Given the description of an element on the screen output the (x, y) to click on. 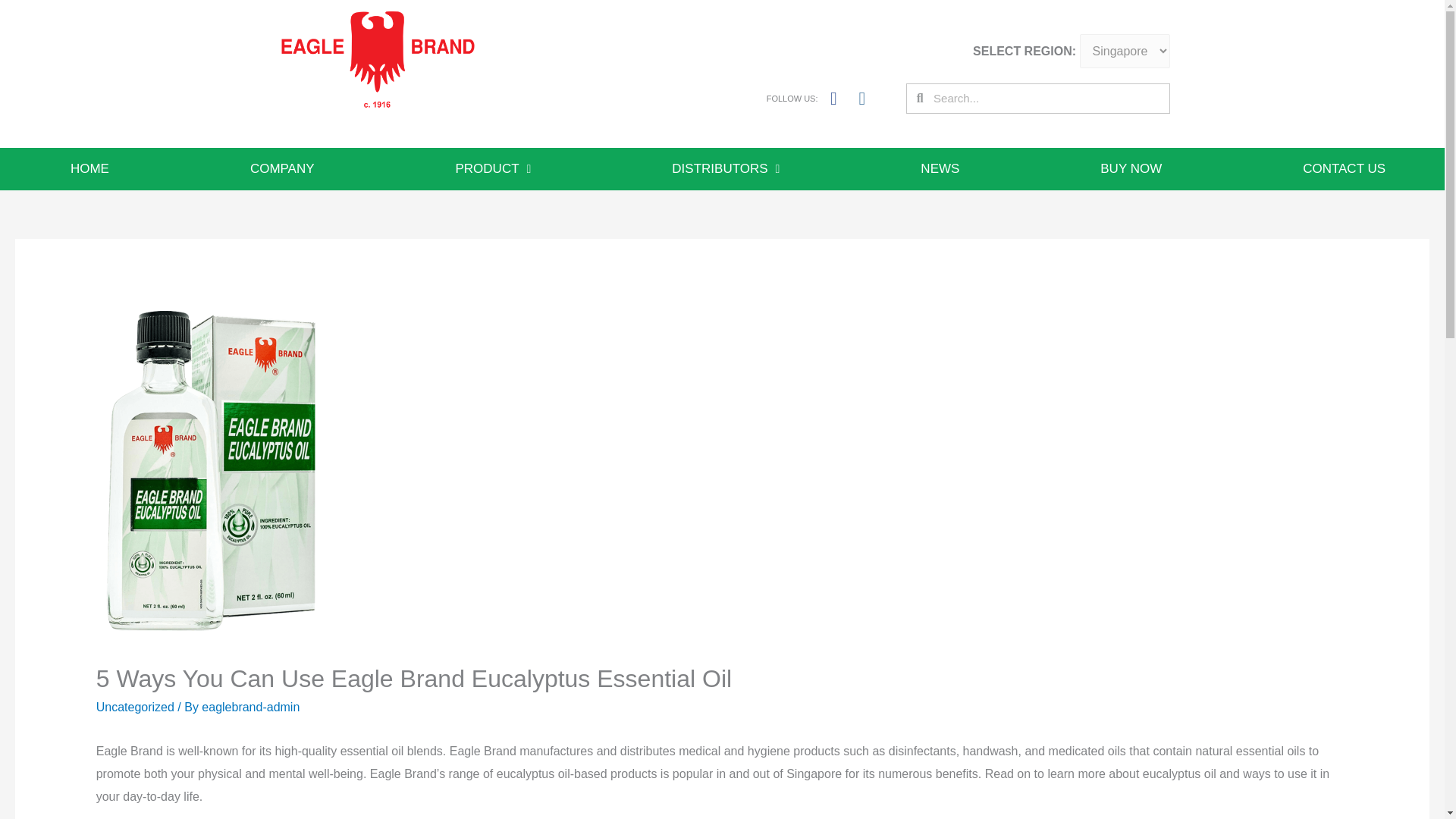
HOME (89, 169)
eaglebrand-admin (250, 707)
NEWS (939, 169)
Search (1046, 98)
View all posts by eaglebrand-admin (250, 707)
PRODUCT (493, 169)
Uncategorized (135, 707)
BUY NOW (1130, 169)
COMPANY (282, 169)
DISTRIBUTORS (725, 169)
